Given the description of an element on the screen output the (x, y) to click on. 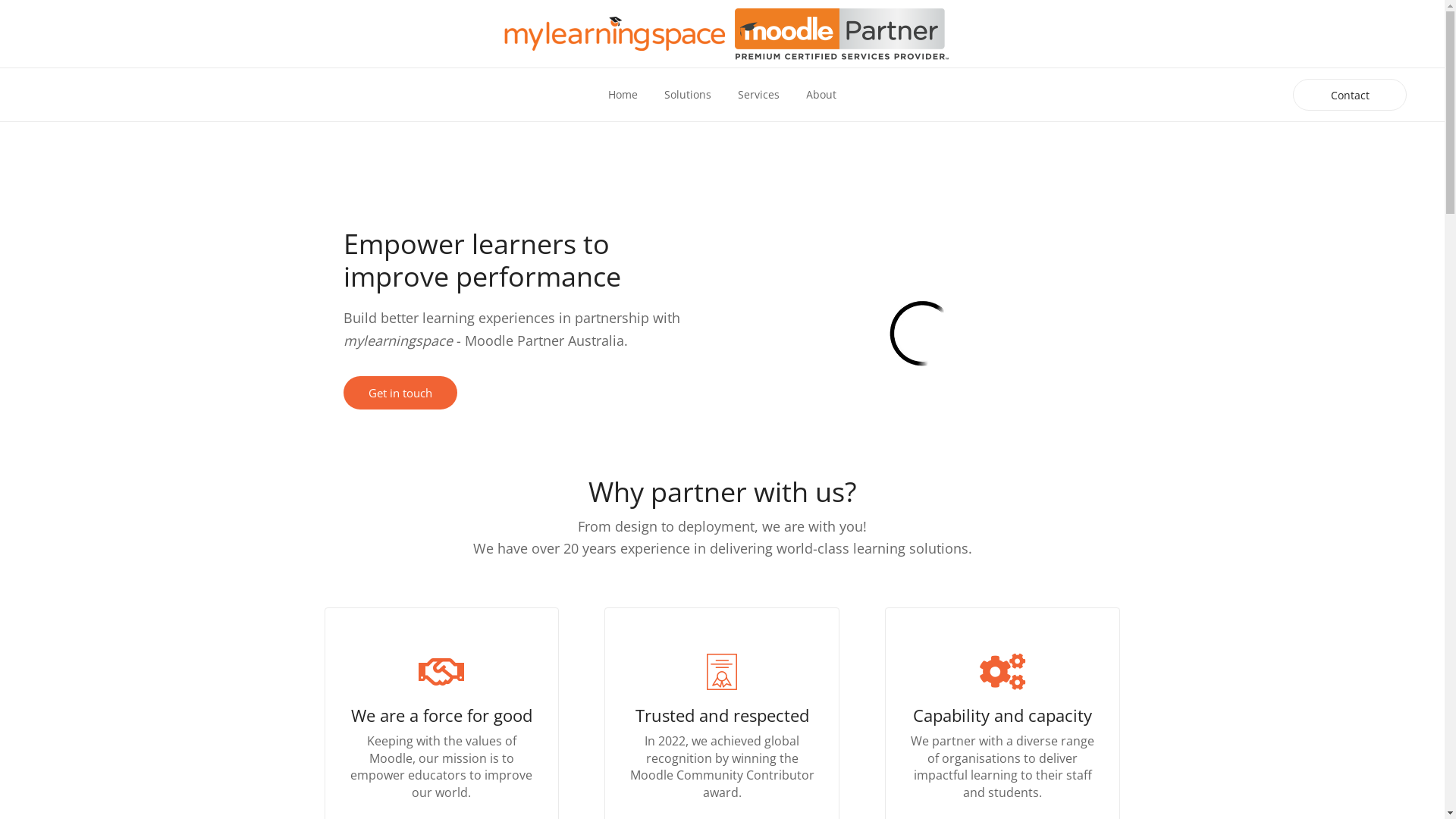
20 years experience Element type: text (625, 548)
About Element type: text (821, 94)
Get in touch Element type: text (399, 392)
Solutions Element type: text (687, 94)
Contact Element type: text (1349, 94)
Services Element type: text (758, 94)
Home Element type: text (622, 94)
